Given the description of an element on the screen output the (x, y) to click on. 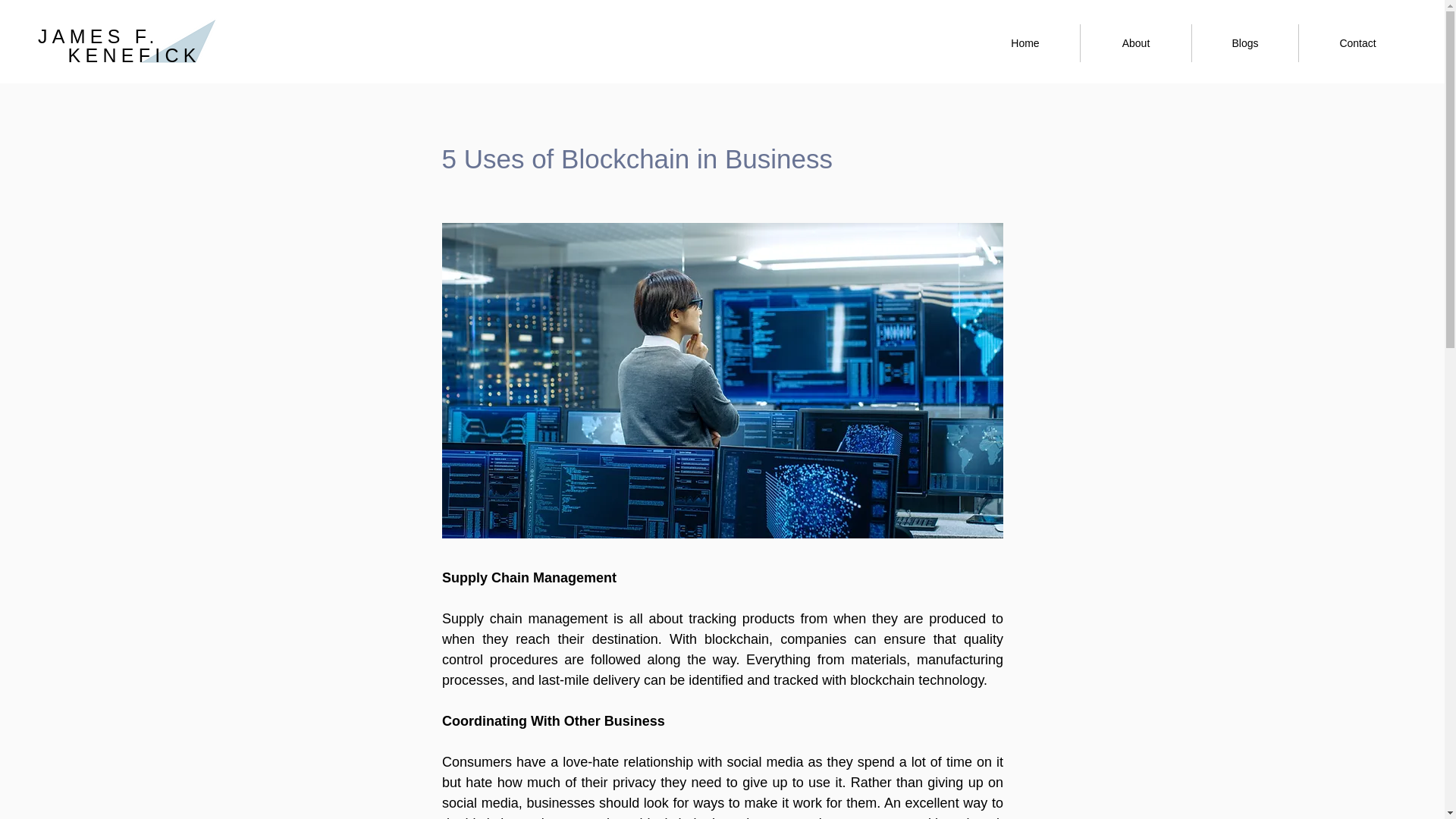
h social me (749, 761)
About (1135, 43)
Home (1025, 43)
Contact (1357, 43)
Blogs (1245, 43)
